Given the description of an element on the screen output the (x, y) to click on. 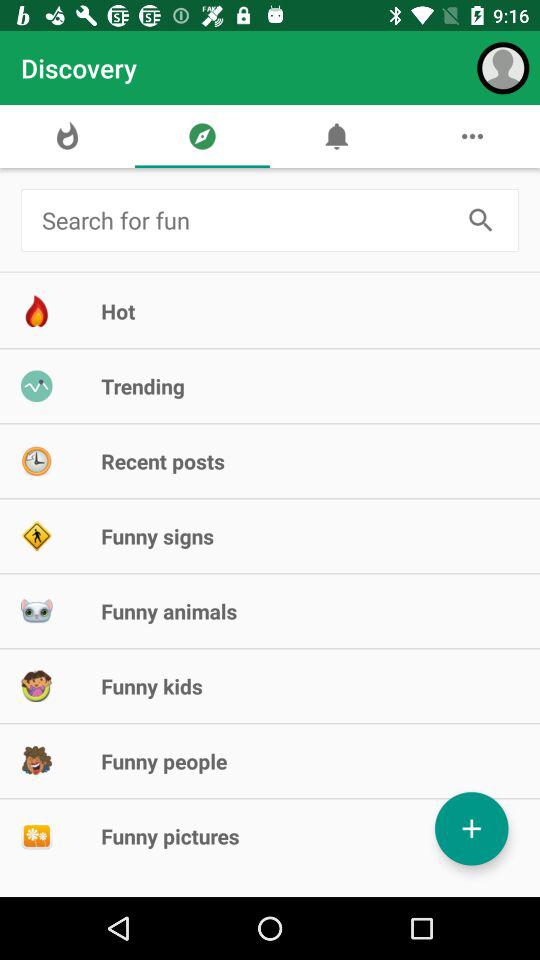
add contact button (471, 828)
